Given the description of an element on the screen output the (x, y) to click on. 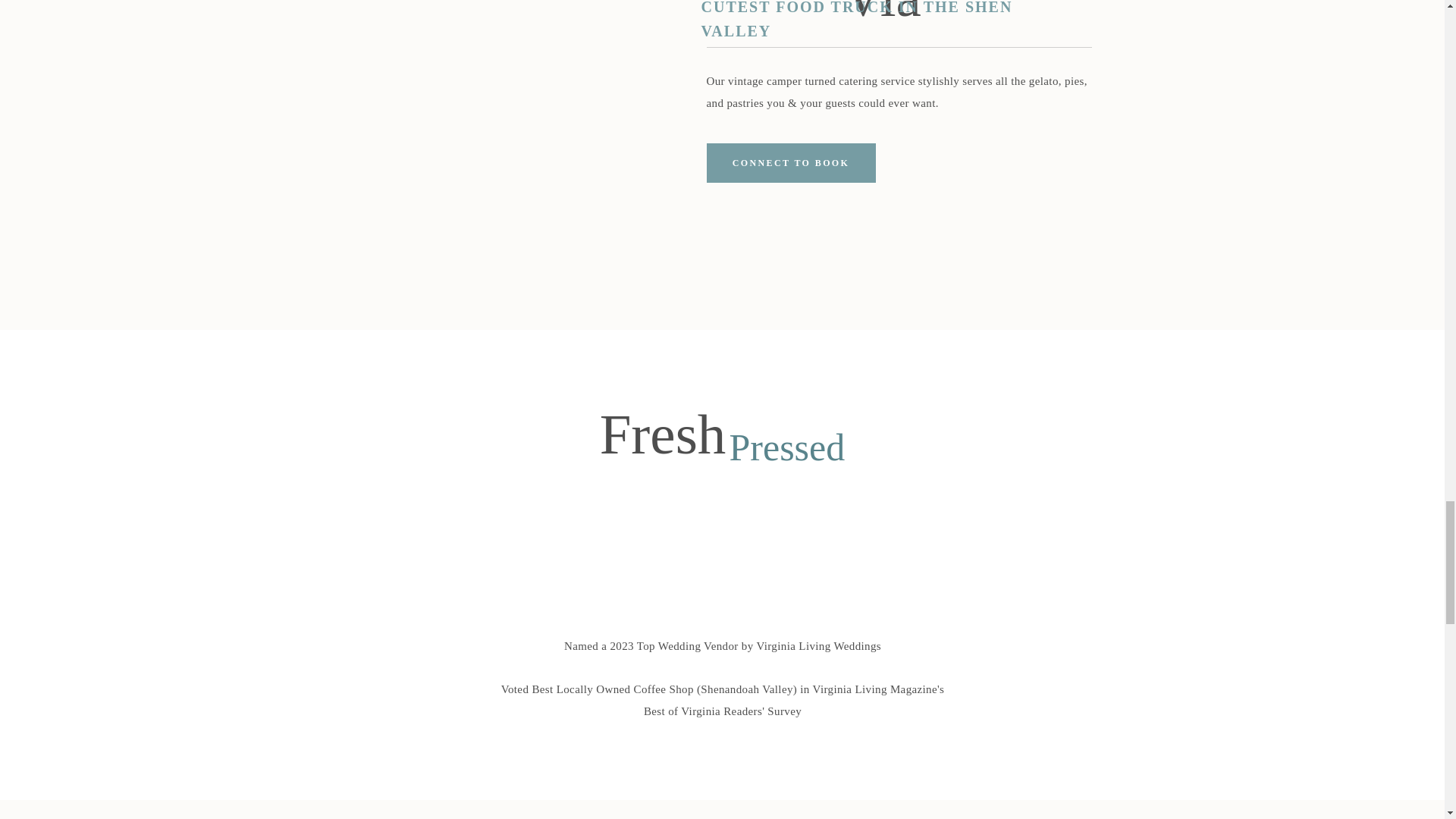
CONNECT TO BOOK (791, 161)
Pressed (790, 444)
Fresh (663, 443)
